Given the description of an element on the screen output the (x, y) to click on. 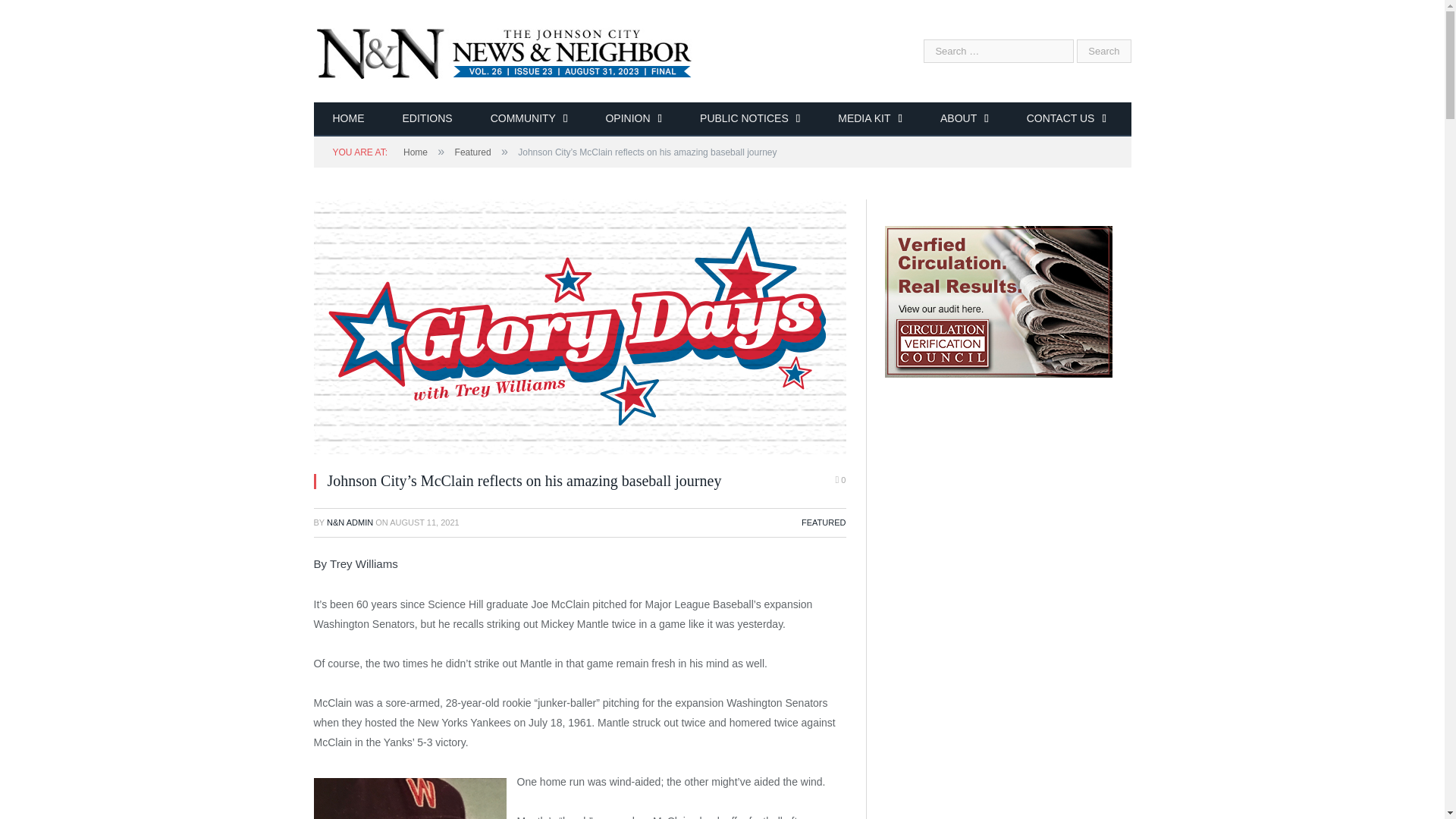
OPINION (633, 119)
COMMUNITY (528, 119)
EDITIONS (427, 119)
HOME (349, 119)
ABOUT (964, 119)
Home (415, 152)
Search (1104, 51)
Featured (473, 152)
CONTACT US (1066, 119)
MEDIA KIT (869, 119)
PUBLIC NOTICES (749, 119)
2021-08-11 (425, 522)
Search (1104, 51)
Search (1104, 51)
FEATURED (823, 522)
